Given the description of an element on the screen output the (x, y) to click on. 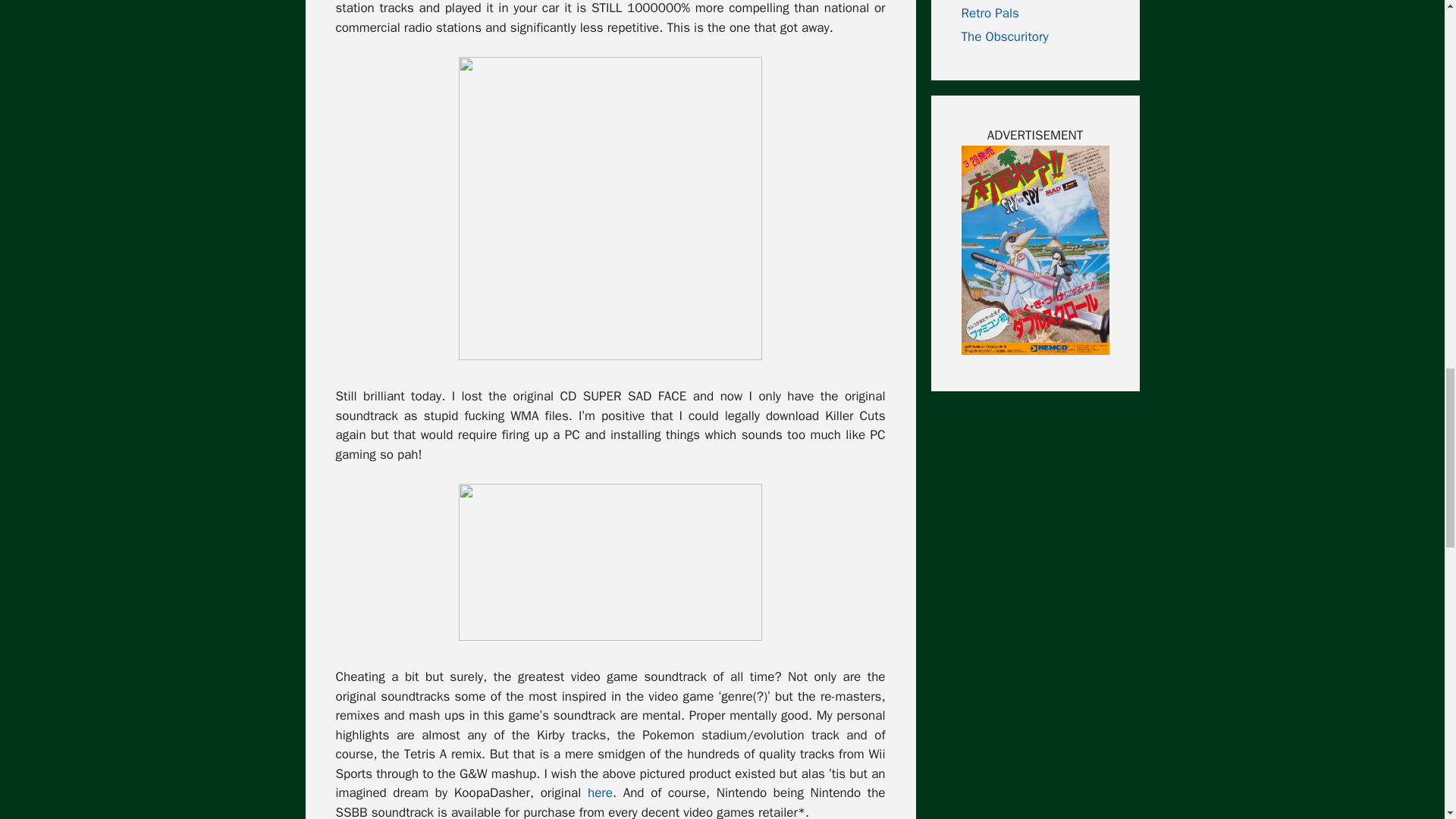
here (600, 792)
